Given the description of an element on the screen output the (x, y) to click on. 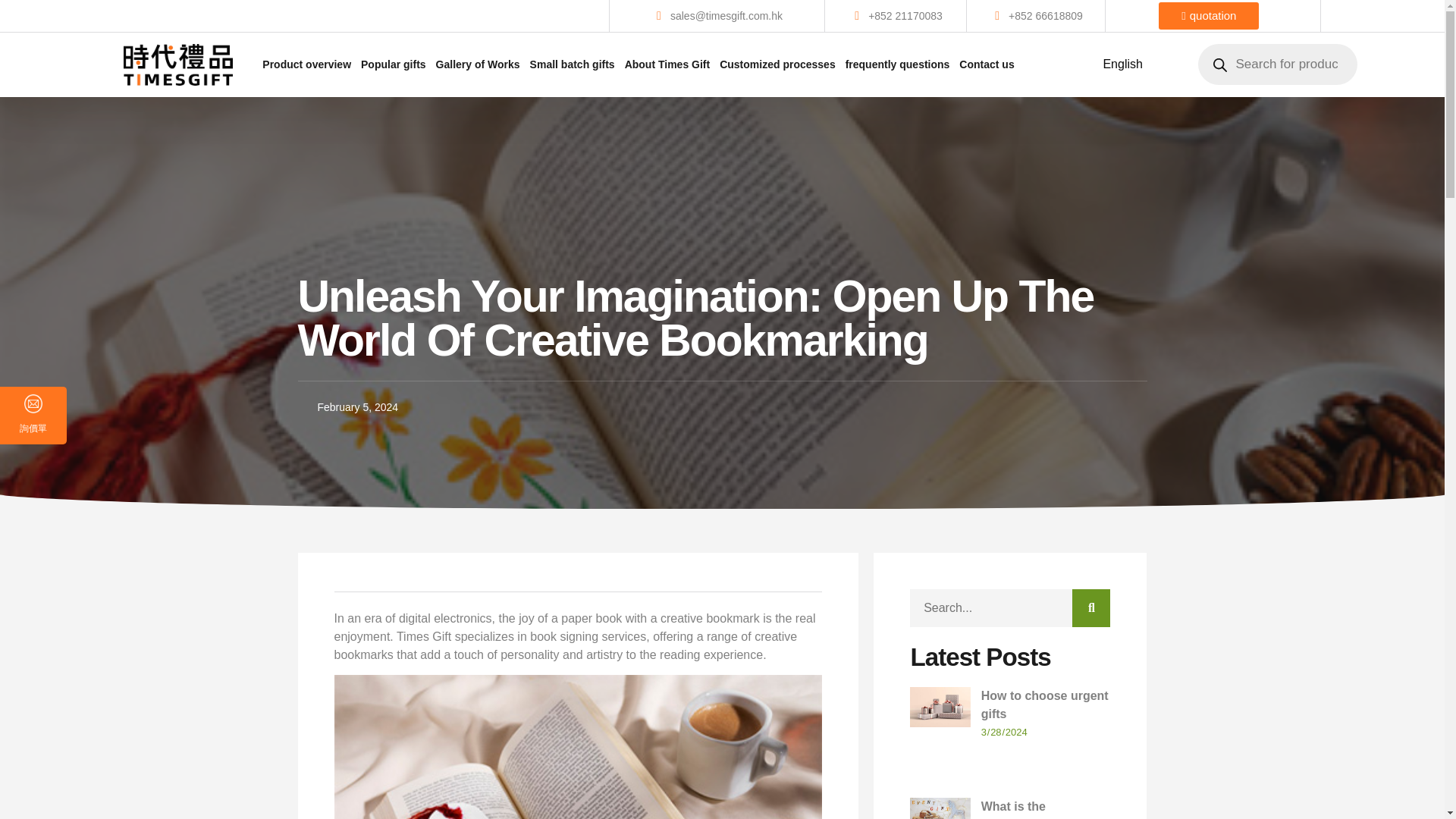
Product overview (306, 23)
Contact us (986, 63)
Latest Posts (1009, 657)
Gallery of Works (477, 61)
quotation (1182, 15)
English (1122, 63)
About Times Gift (667, 62)
Small batch gifts (571, 61)
